Given the description of an element on the screen output the (x, y) to click on. 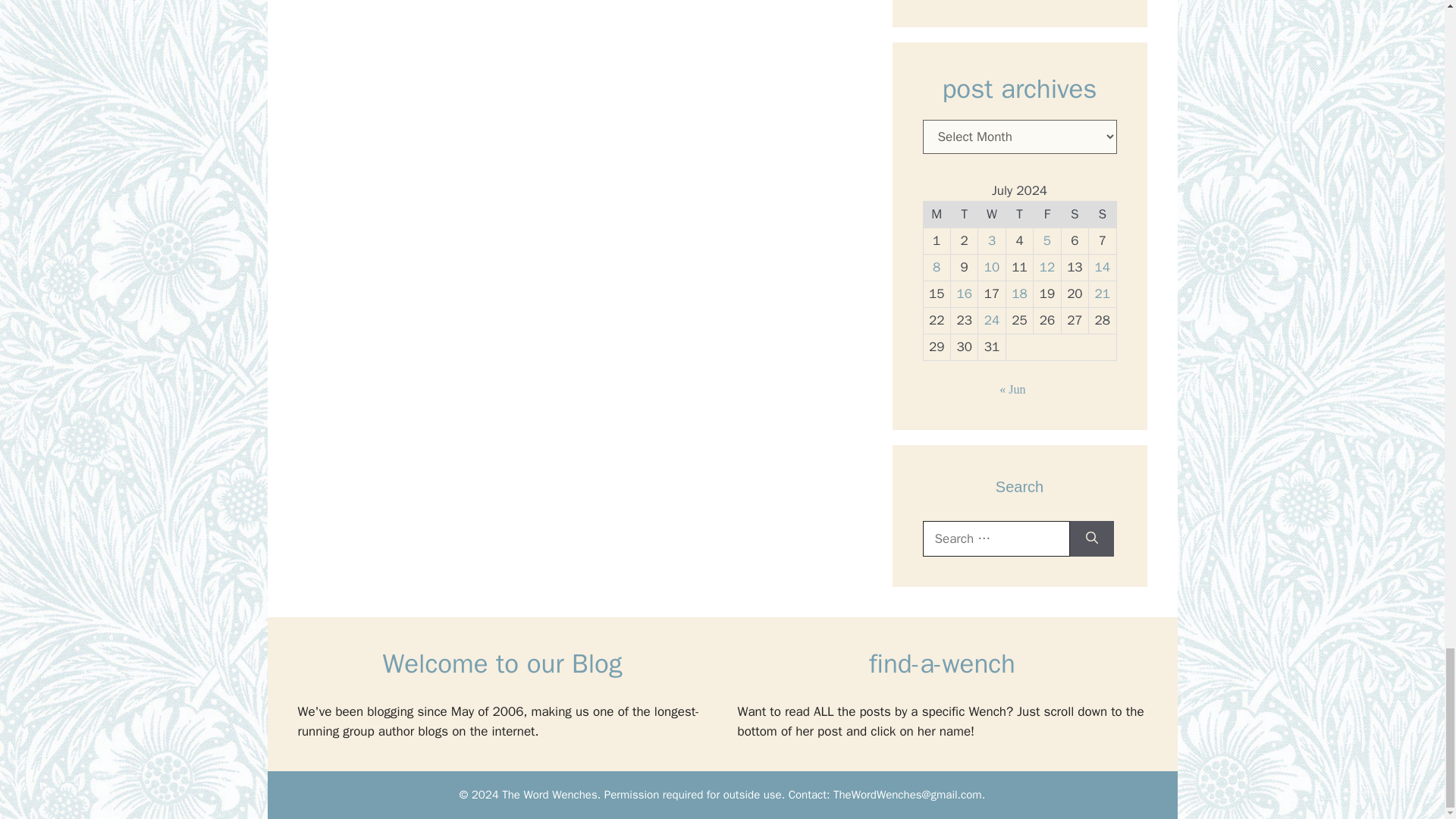
Monday (936, 213)
Friday (1047, 213)
Saturday (1074, 213)
Thursday (1019, 213)
Sunday (1102, 213)
Tuesday (963, 213)
Wednesday (992, 213)
